Given the description of an element on the screen output the (x, y) to click on. 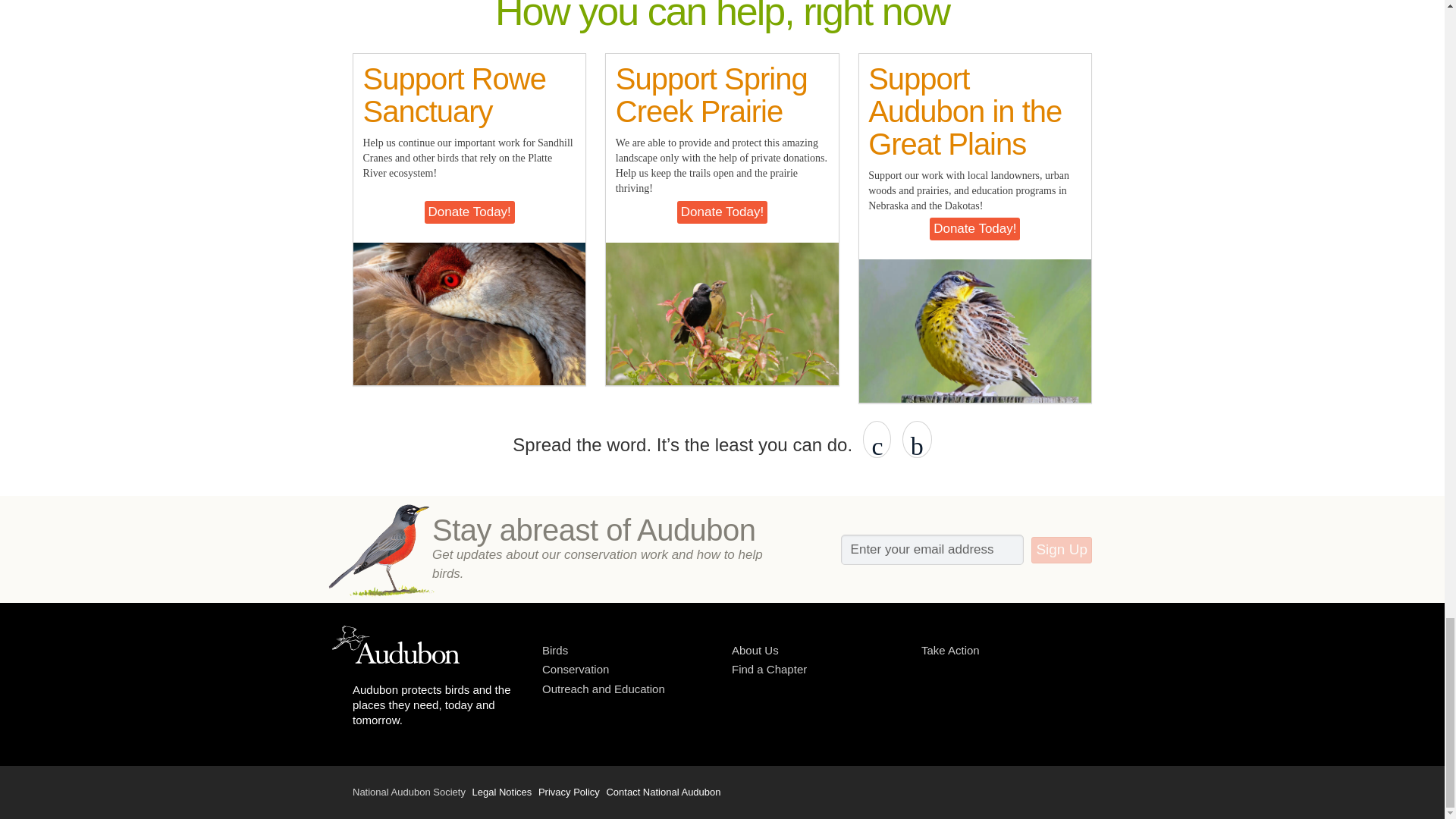
Sign Up (1061, 550)
